Given the description of an element on the screen output the (x, y) to click on. 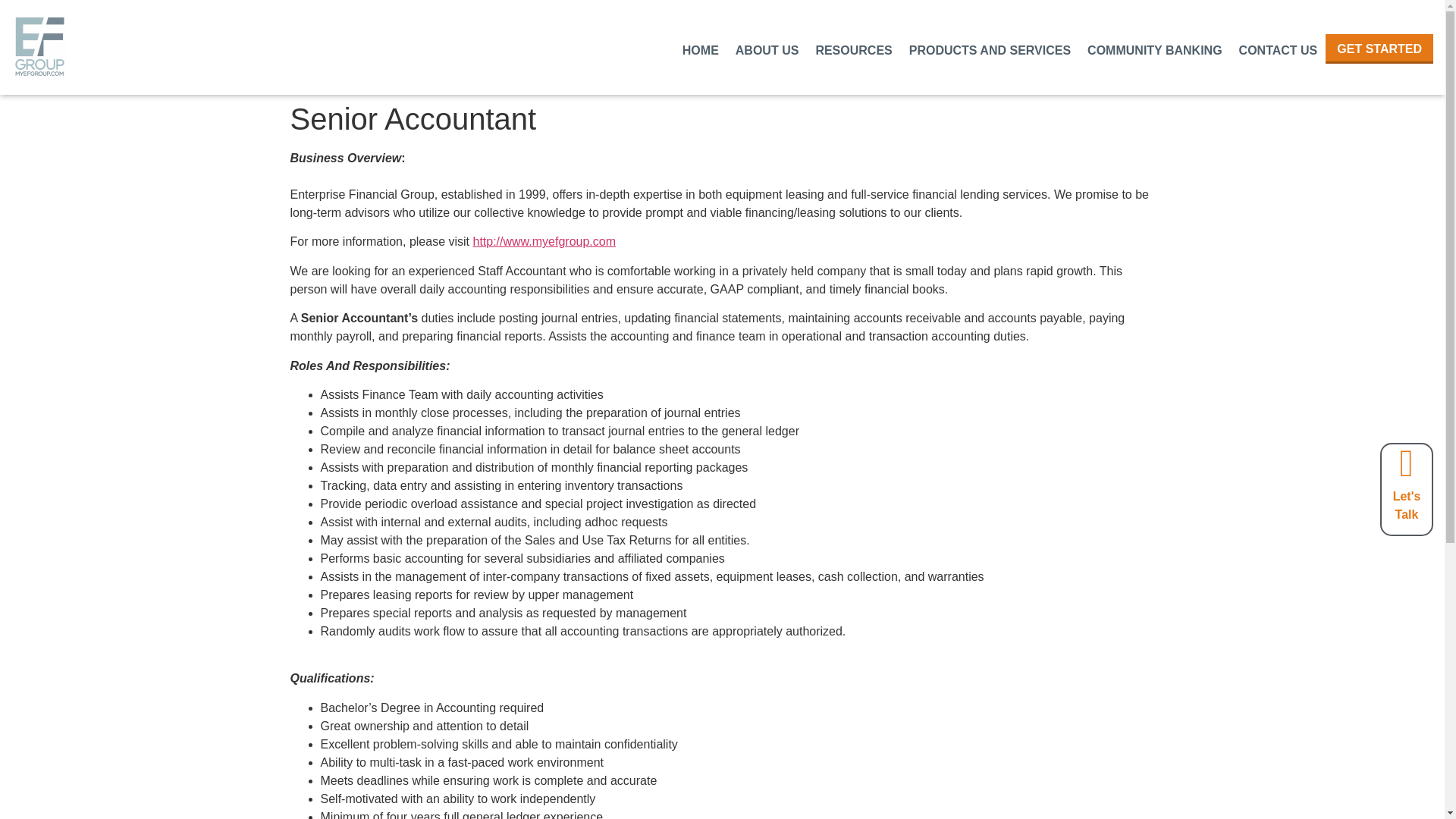
RESOURCES (852, 50)
CONTACT US (1278, 50)
HOME (700, 50)
ABOUT US (767, 50)
PRODUCTS AND SERVICES (989, 50)
COMMUNITY BANKING (1154, 50)
